Given the description of an element on the screen output the (x, y) to click on. 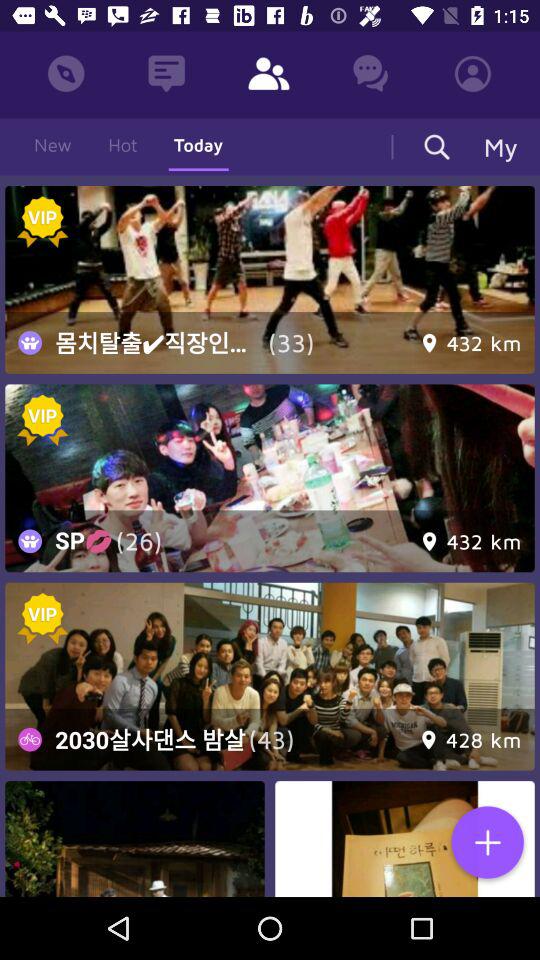
view image (134, 839)
